Given the description of an element on the screen output the (x, y) to click on. 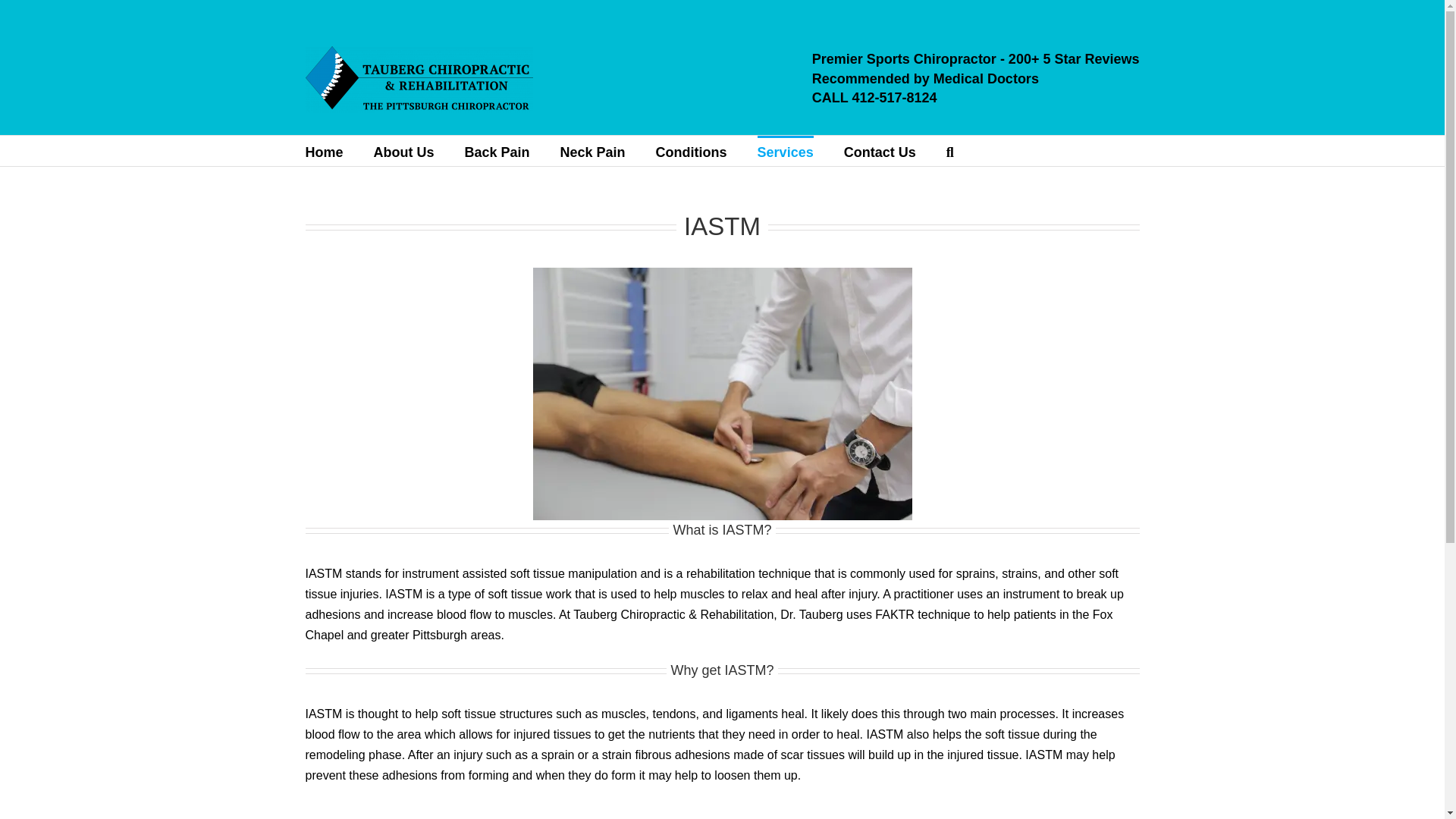
Home (323, 150)
myofascial release performed ona persons calf (721, 393)
Contact Us (879, 150)
CALL 412-517-8124 (874, 97)
About Us (403, 150)
Services (785, 150)
Conditions (691, 150)
Neck Pain (593, 150)
Back Pain (496, 150)
